Given the description of an element on the screen output the (x, y) to click on. 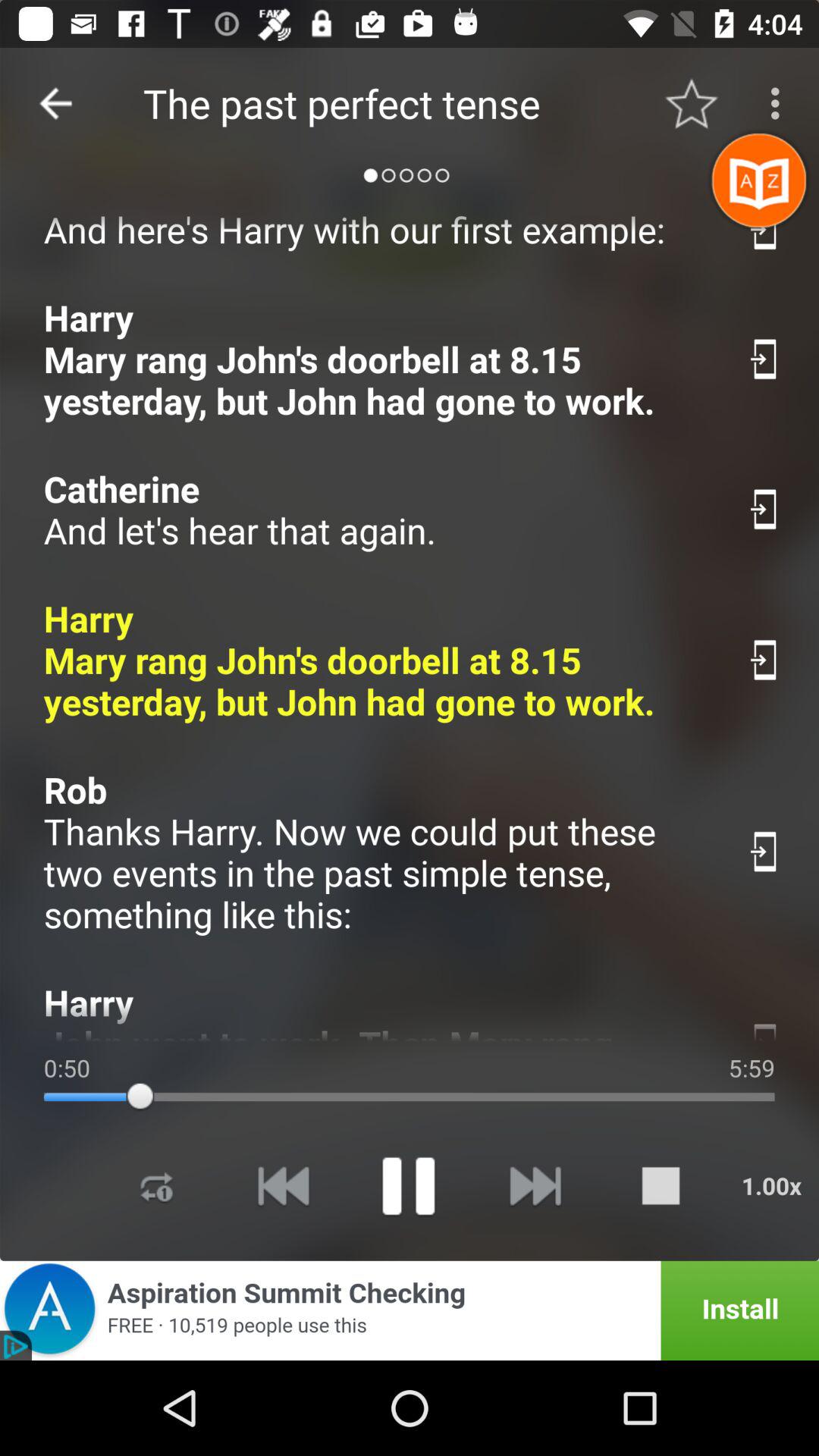
pause (408, 1185)
